Given the description of an element on the screen output the (x, y) to click on. 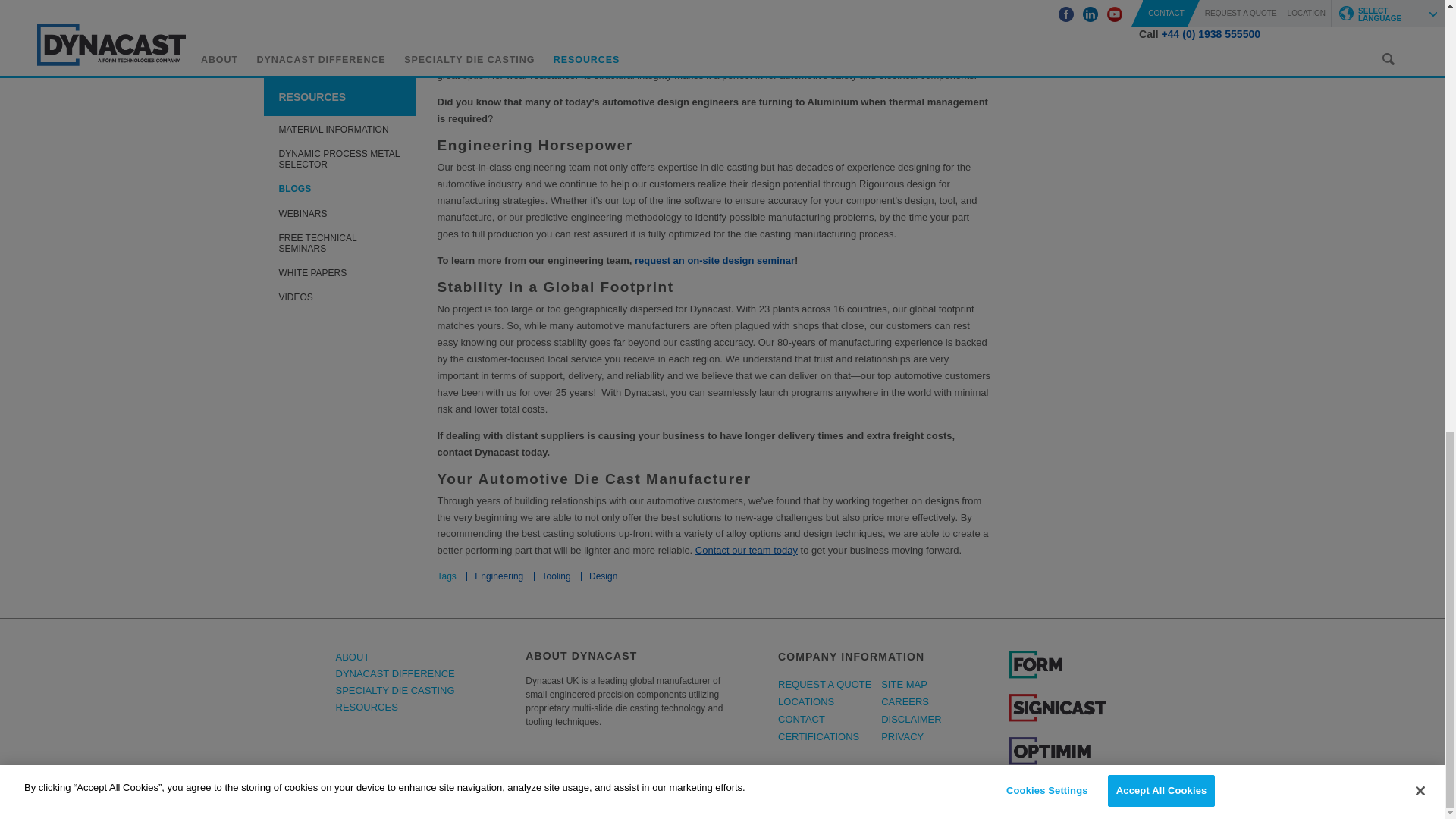
OptiMIM (1056, 762)
Form Technologies (1056, 675)
Signicast (1056, 718)
